Given the description of an element on the screen output the (x, y) to click on. 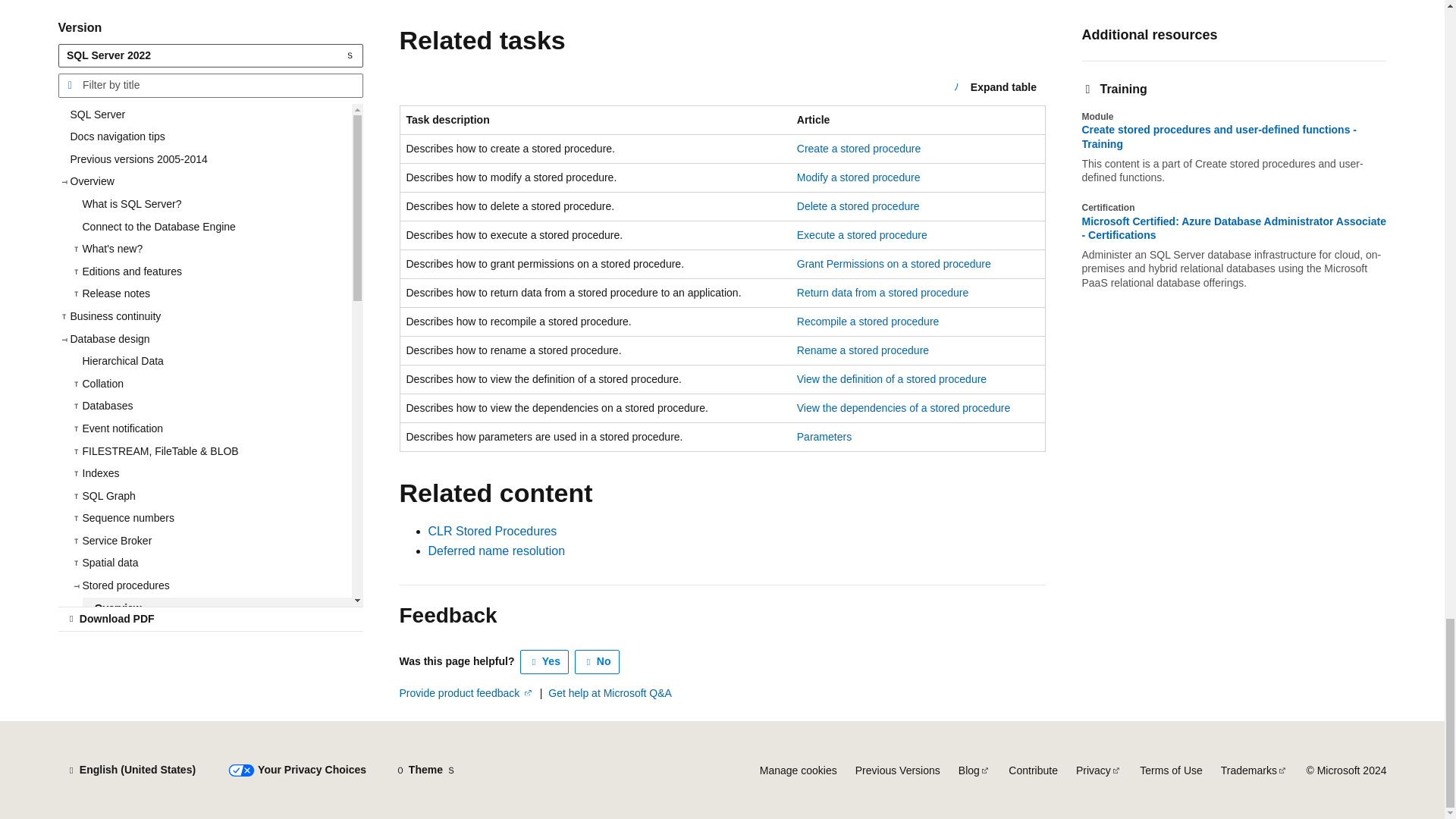
This article is not helpful (597, 662)
Theme (425, 770)
This article is helpful (544, 662)
